Given the description of an element on the screen output the (x, y) to click on. 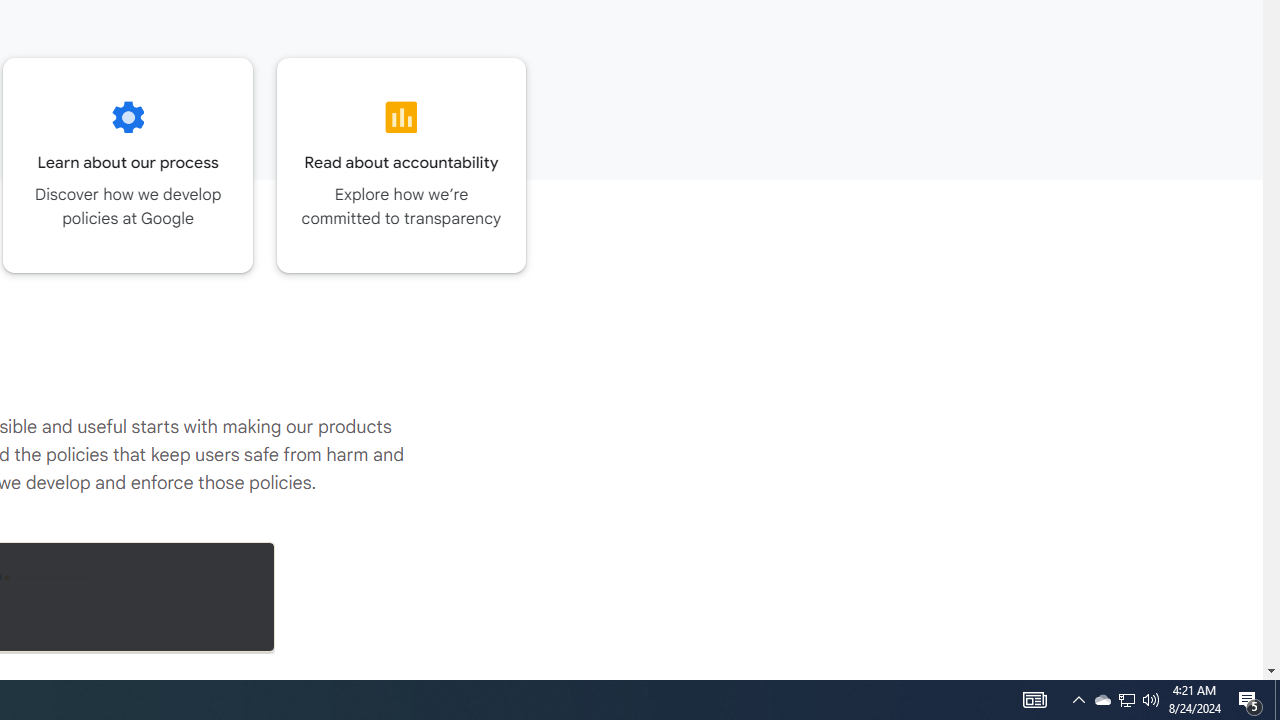
Go to the Accountability page (401, 165)
Go to the Our process page (127, 165)
